Given the description of an element on the screen output the (x, y) to click on. 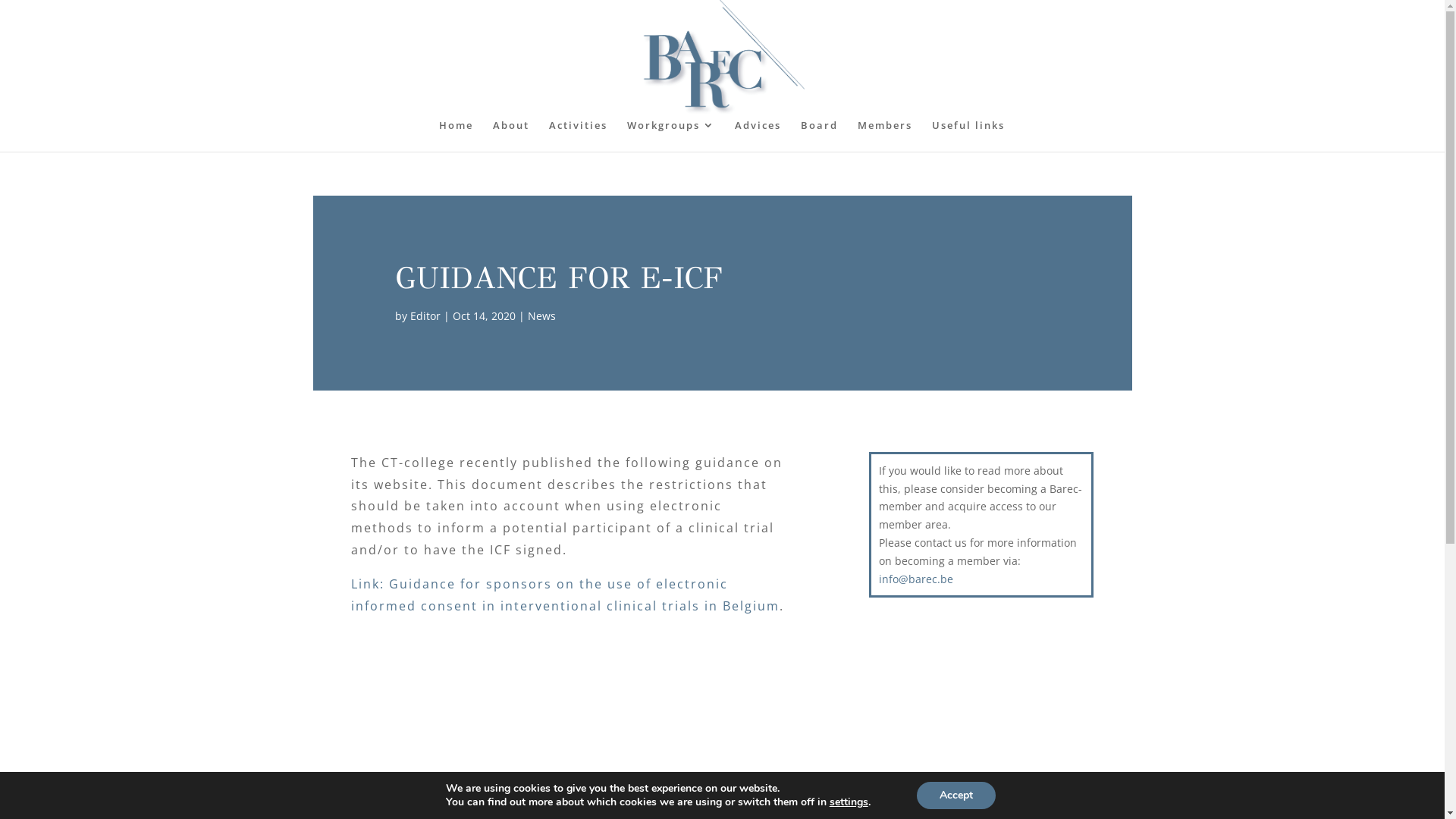
Activities Element type: text (578, 135)
Members Element type: text (883, 135)
Board Element type: text (818, 135)
News Element type: text (541, 315)
About Element type: text (510, 135)
info@barec.be Element type: text (915, 578)
Home Element type: text (455, 135)
Accept Element type: text (955, 795)
Advices Element type: text (757, 135)
Workgroups Element type: text (670, 135)
Useful links Element type: text (967, 135)
Editor Element type: text (424, 315)
settings Element type: text (848, 802)
